Given the description of an element on the screen output the (x, y) to click on. 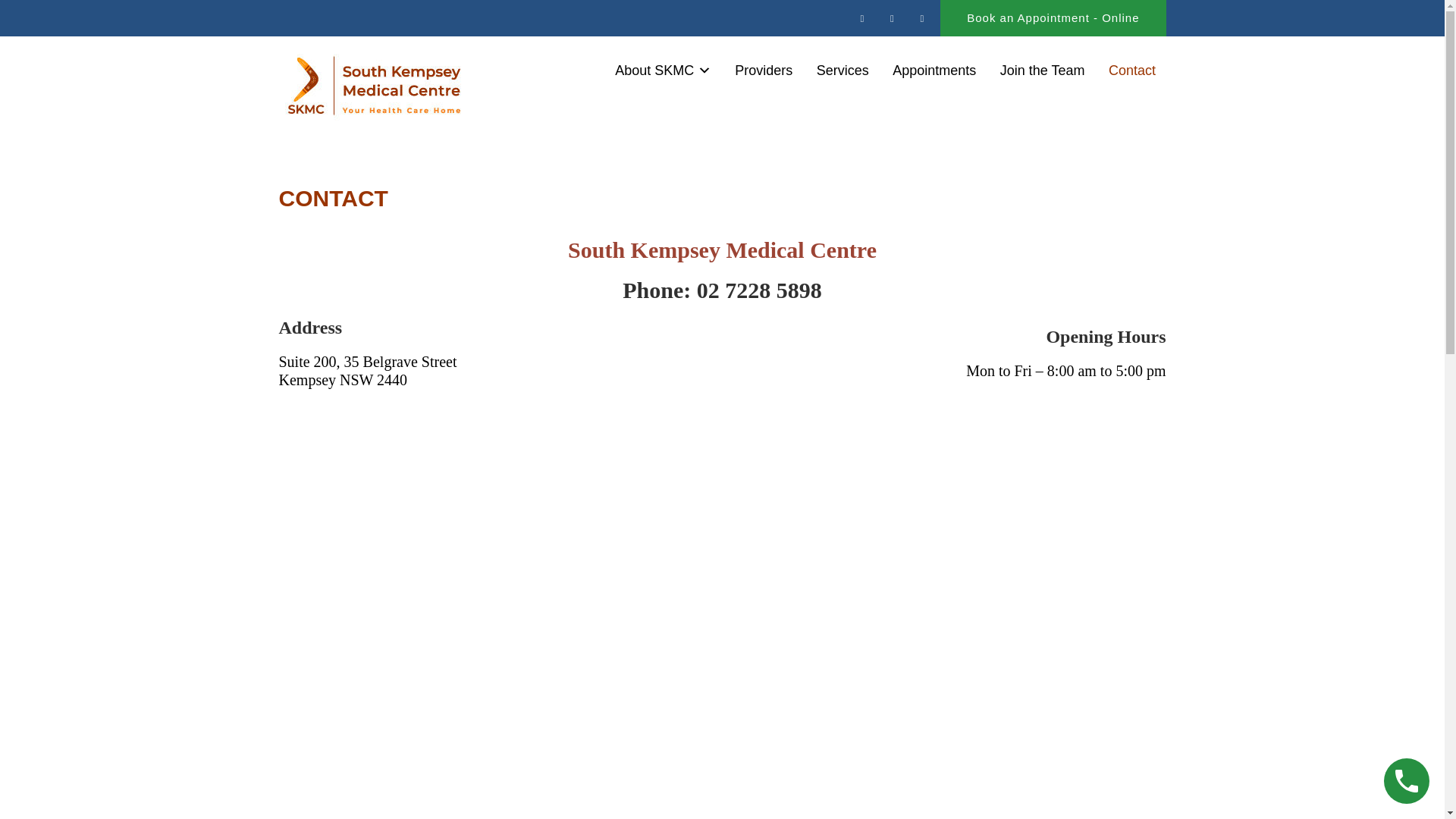
Contact (1131, 70)
Appointments (934, 70)
Providers (764, 70)
Book an Appointment - Online (1053, 18)
Join the Team (1042, 70)
About SKMC (663, 70)
Services (842, 70)
